Given the description of an element on the screen output the (x, y) to click on. 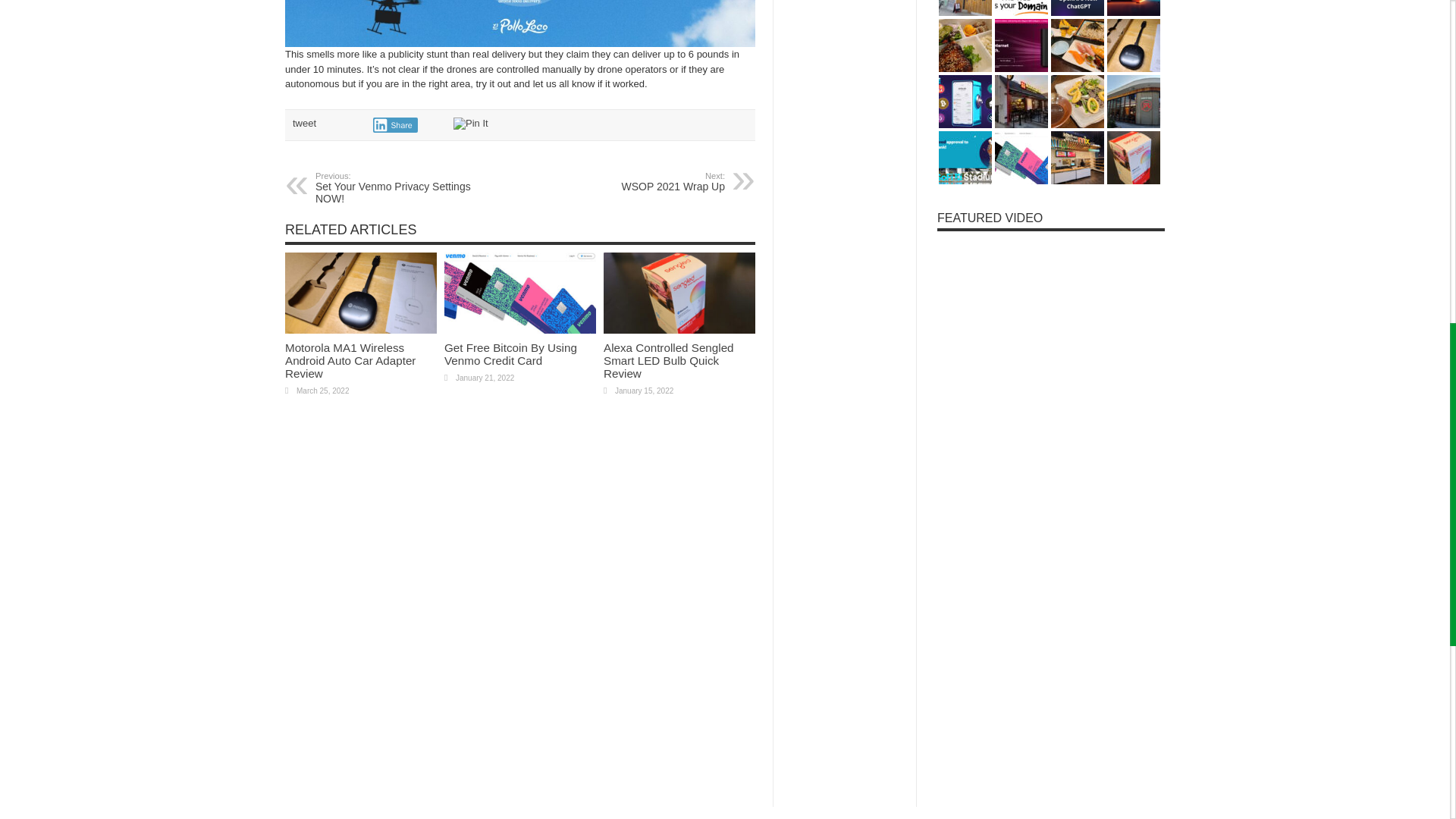
Pin It (407, 187)
tweet (469, 123)
Permalink to Get Free Bitcoin By Using Venmo Credit Card (303, 122)
Share (519, 329)
Permalink to Get Free Bitcoin By Using Venmo Credit Card (394, 124)
